Given the description of an element on the screen output the (x, y) to click on. 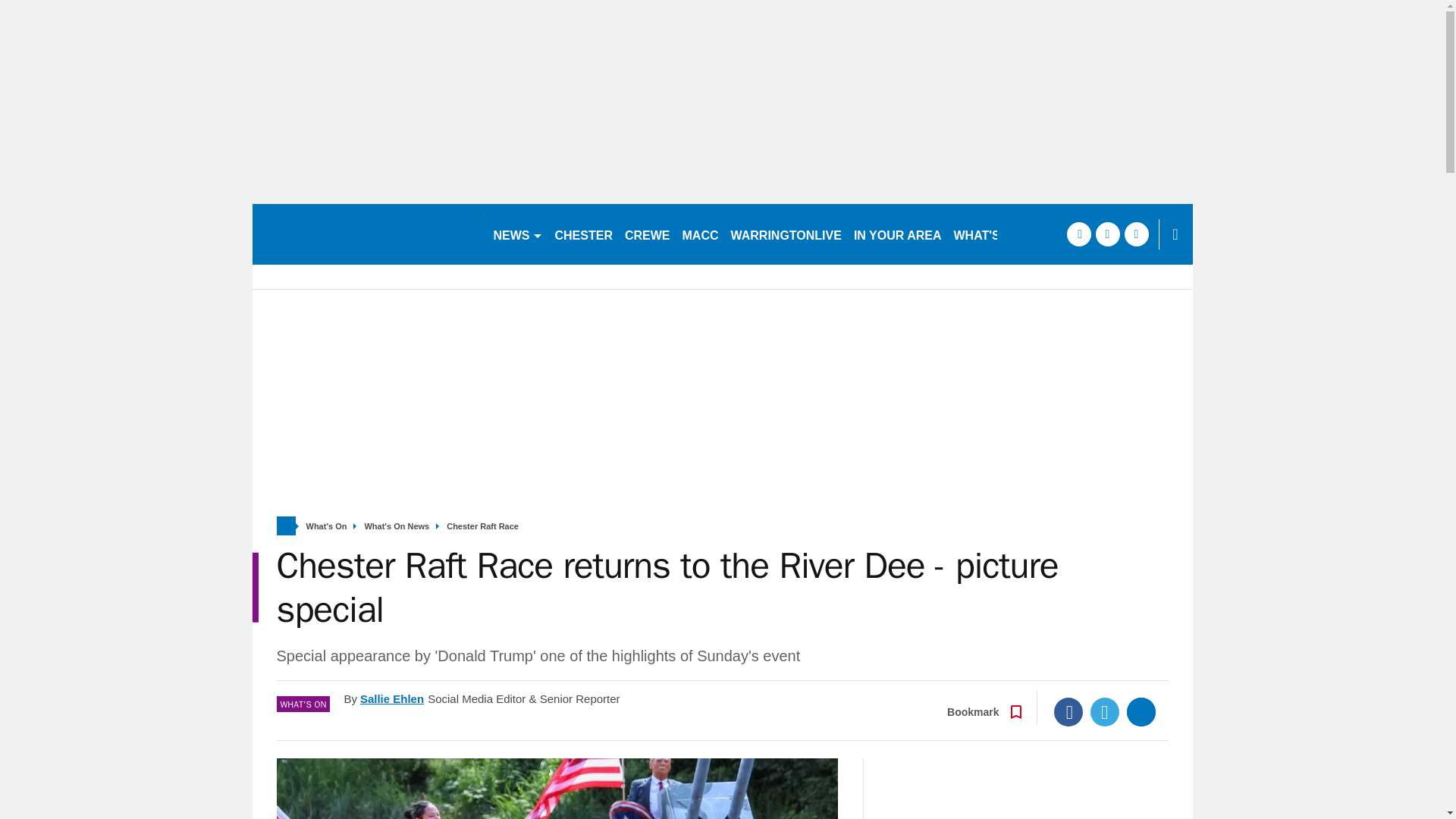
NEWS (517, 233)
Facebook (1068, 711)
CHESTER (583, 233)
chesterchronicle (365, 233)
WARRINGTONLIVE (786, 233)
IN YOUR AREA (897, 233)
Twitter (1104, 711)
MACC (701, 233)
facebook (1077, 233)
instagram (1136, 233)
WHAT'S ON (994, 233)
CREWE (647, 233)
twitter (1106, 233)
